Given the description of an element on the screen output the (x, y) to click on. 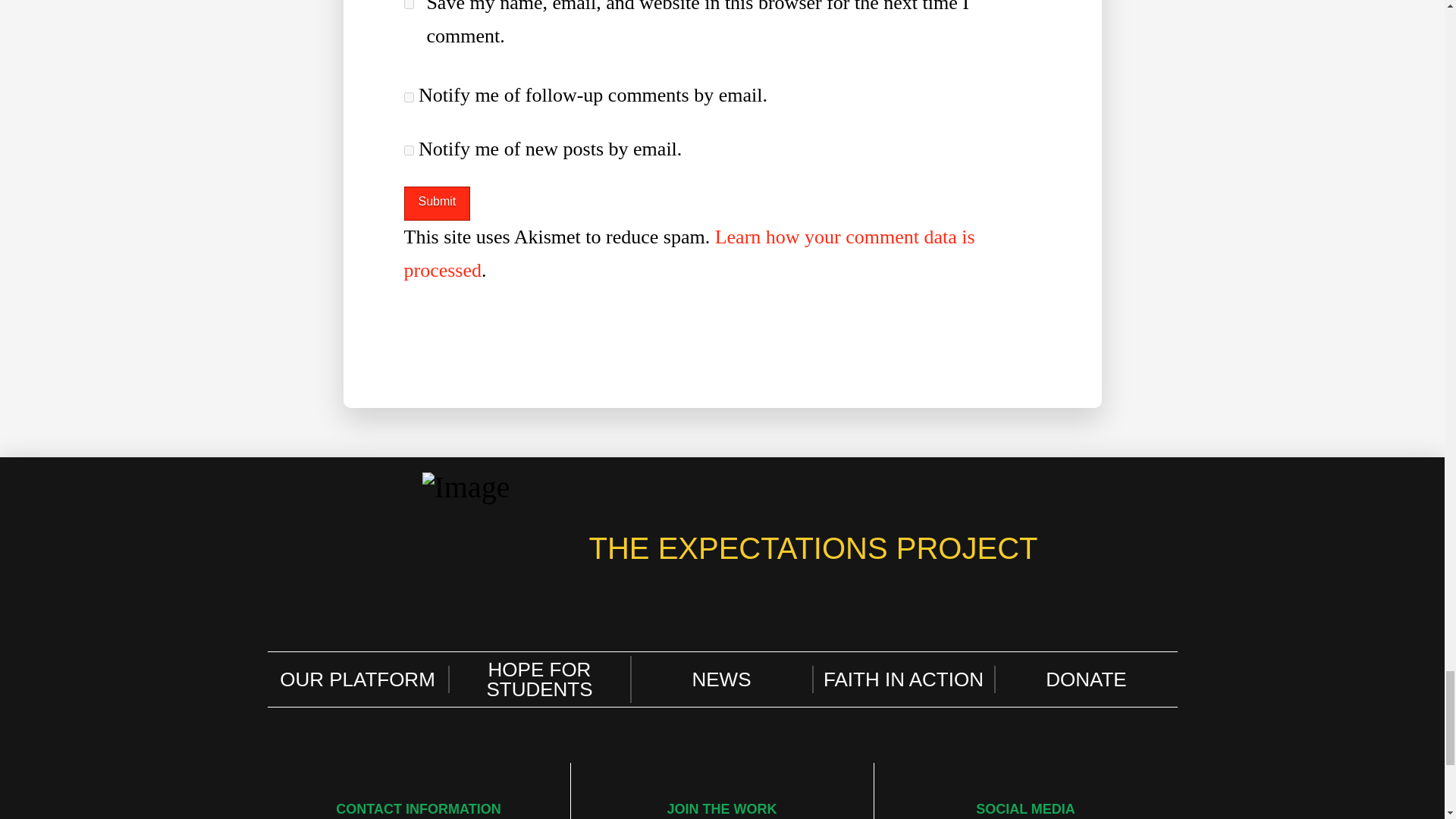
DONATE (1085, 678)
NEWS (721, 678)
OUR PLATFORM (357, 678)
Submit (436, 203)
subscribe (408, 150)
Learn how your comment data is processed (688, 253)
HOPE FOR STUDENTS (539, 679)
FAITH IN ACTION (903, 678)
subscribe (408, 97)
yes (408, 4)
